Given the description of an element on the screen output the (x, y) to click on. 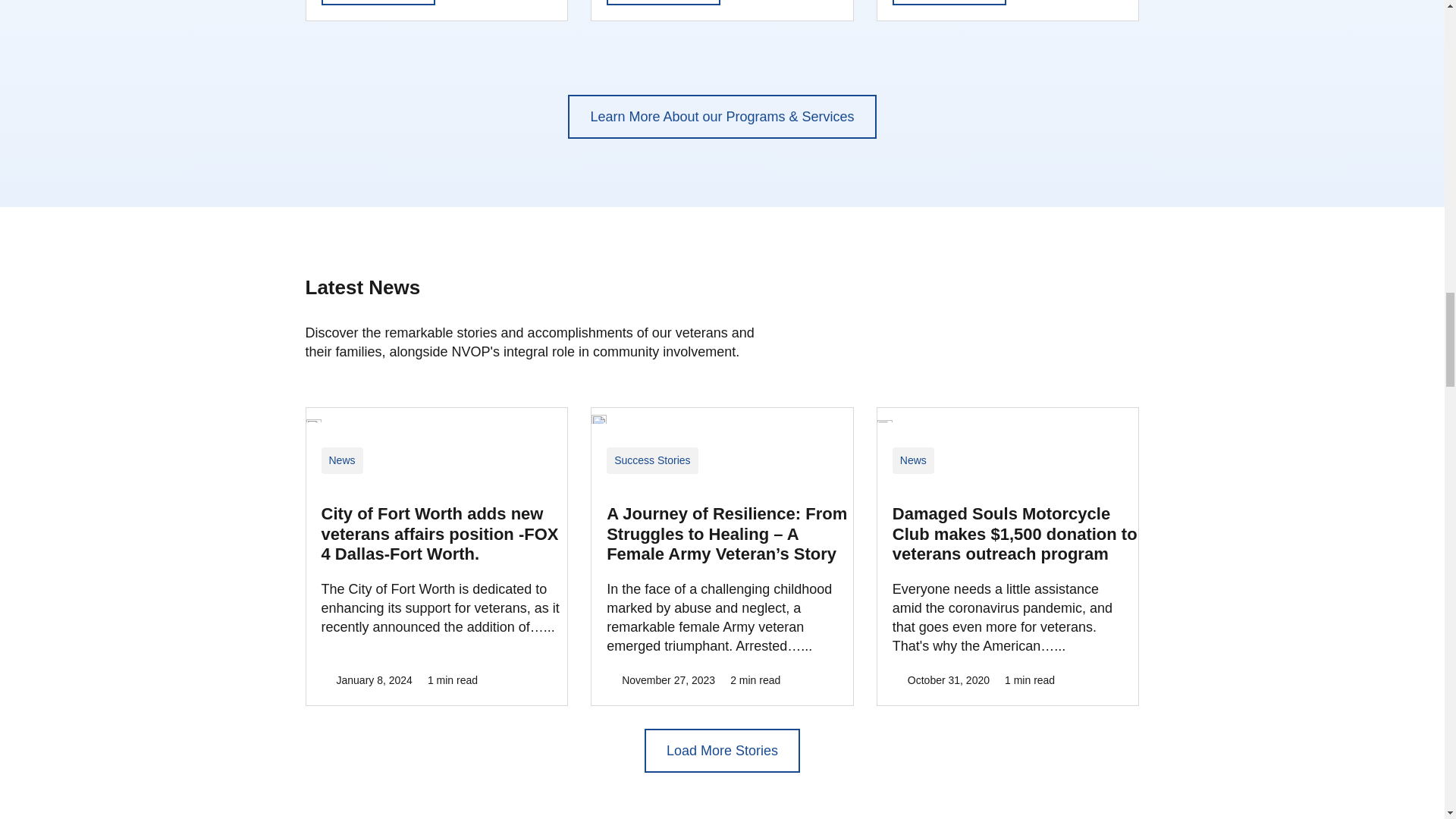
News (341, 460)
Success Stories (652, 460)
